Given the description of an element on the screen output the (x, y) to click on. 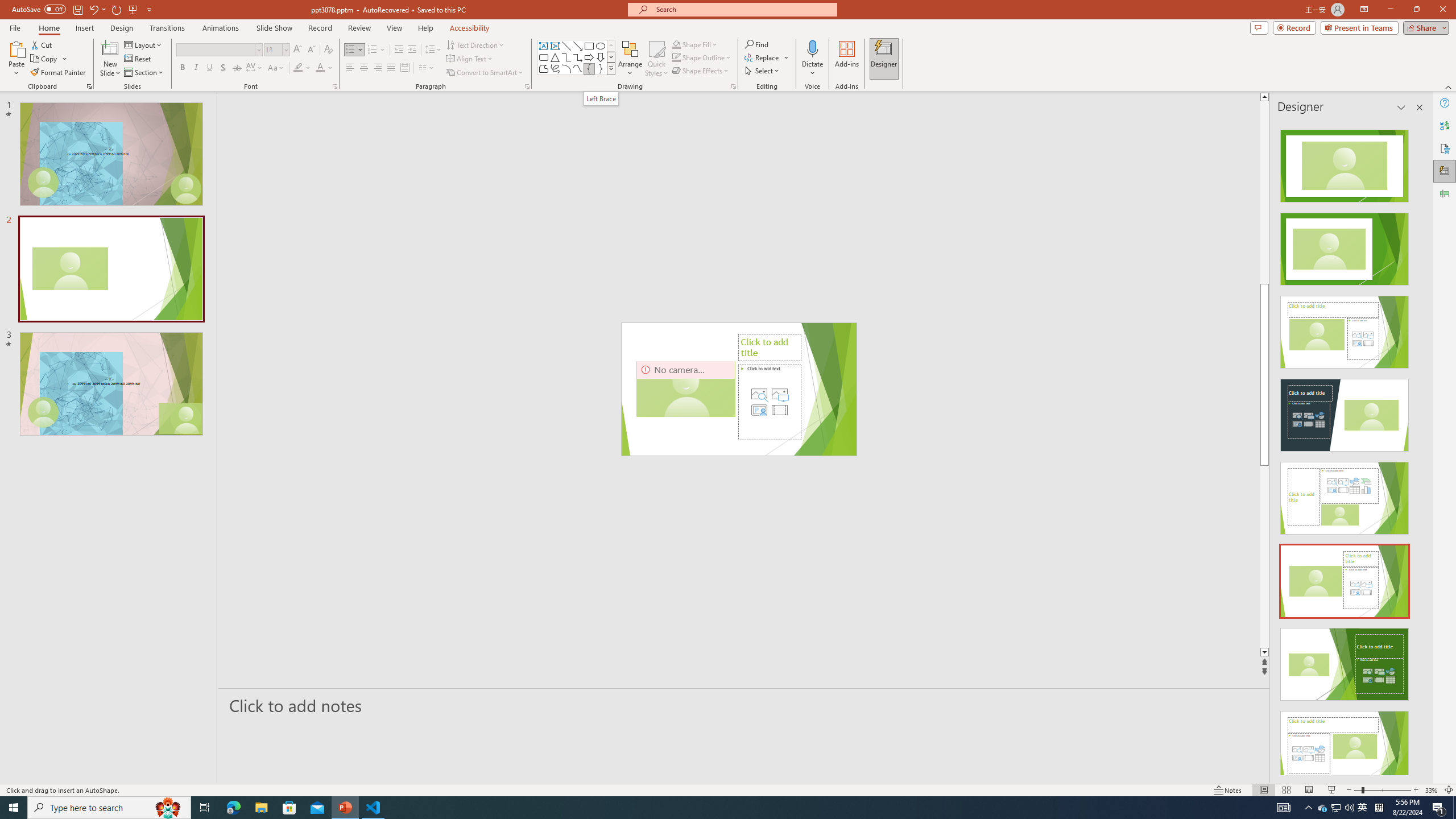
Arc (566, 68)
Align Right (377, 67)
Font (215, 49)
Oval (600, 45)
Copy (45, 58)
